Given the description of an element on the screen output the (x, y) to click on. 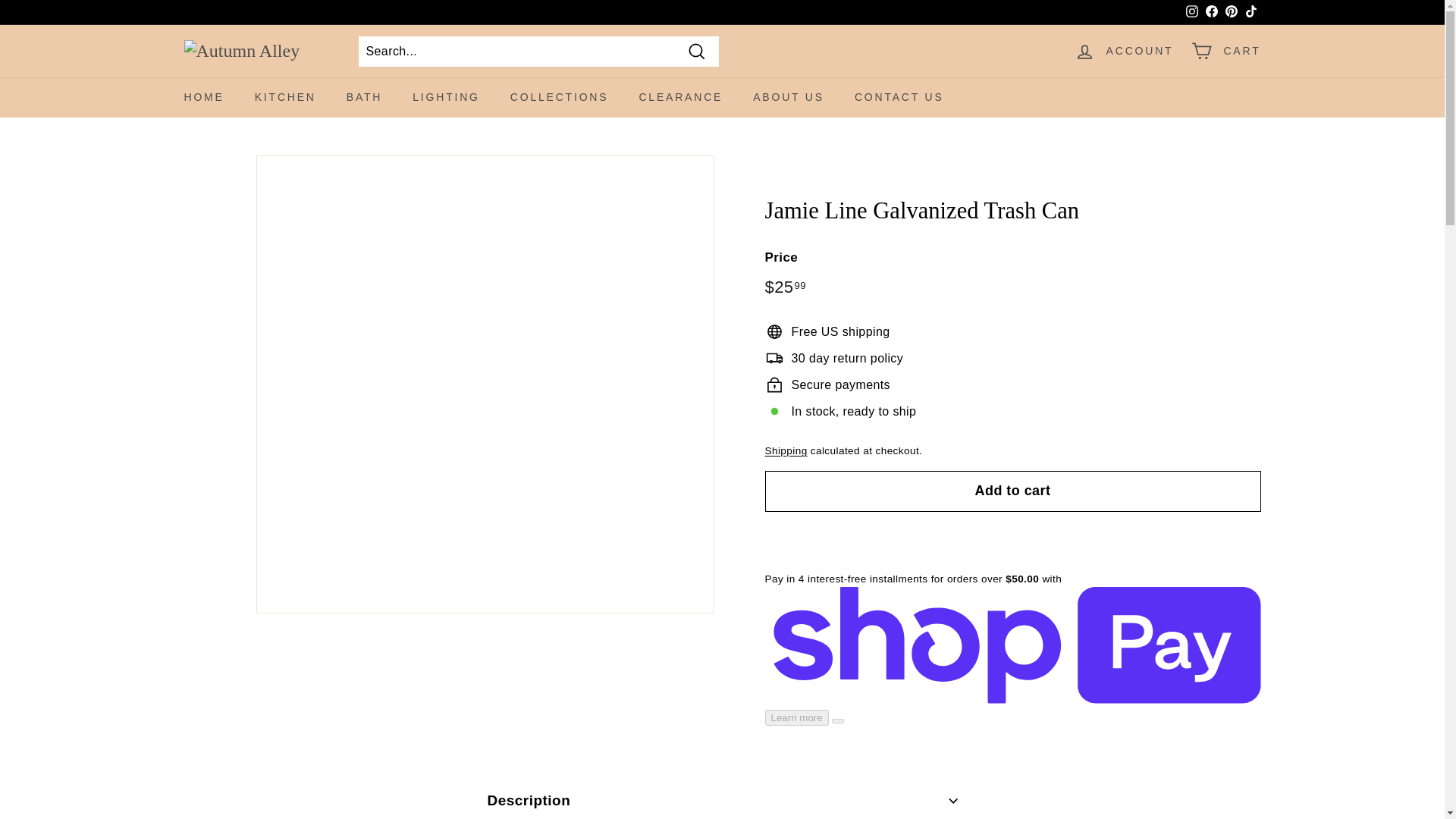
KITCHEN (285, 96)
ACCOUNT (1123, 50)
LIGHTING (446, 96)
CLEARANCE (680, 96)
ABOUT US (789, 96)
COLLECTIONS (559, 96)
BATH (364, 96)
CONTACT US (899, 96)
HOME (203, 96)
